Given the description of an element on the screen output the (x, y) to click on. 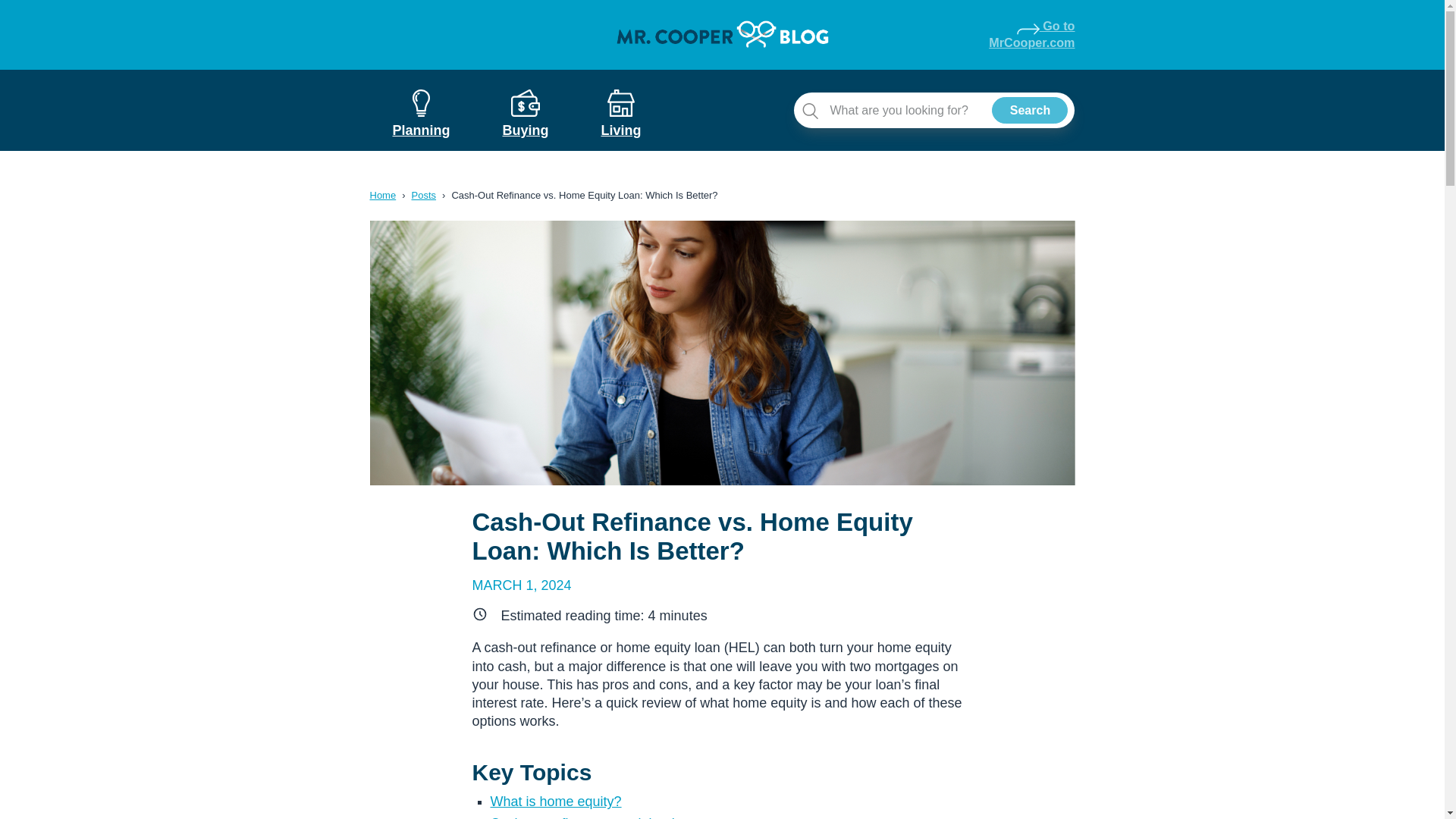
Search (1031, 34)
Home (1029, 110)
Posts (382, 194)
What is home equity? (424, 194)
